Given the description of an element on the screen output the (x, y) to click on. 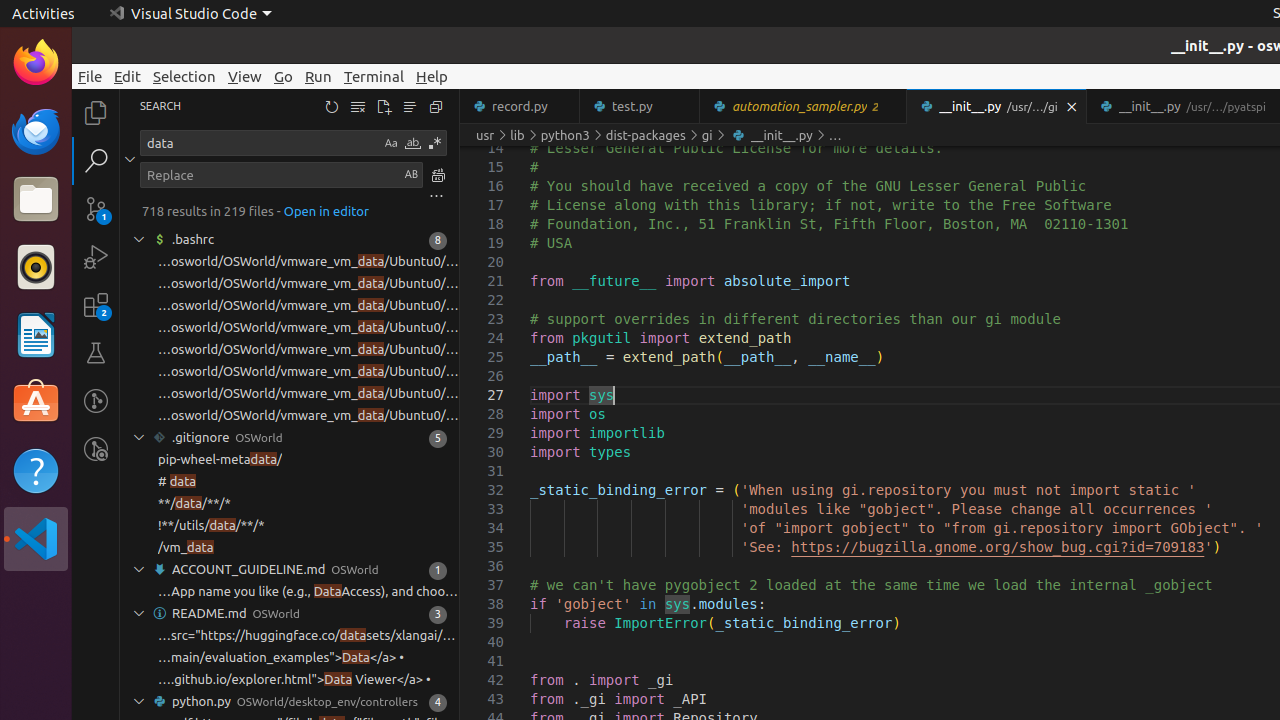
# data Element type: link (177, 481)
**/data/**/* Element type: link (194, 503)
…App name you like (e.g., DataAccess), and choose the current Google gmail into field `User support email`. Element type: link (308, 591)
Clear Search Results Element type: push-button (358, 106)
8 matches in file .bashrc of folder ., Search result Element type: tree-item (289, 239)
